Given the description of an element on the screen output the (x, y) to click on. 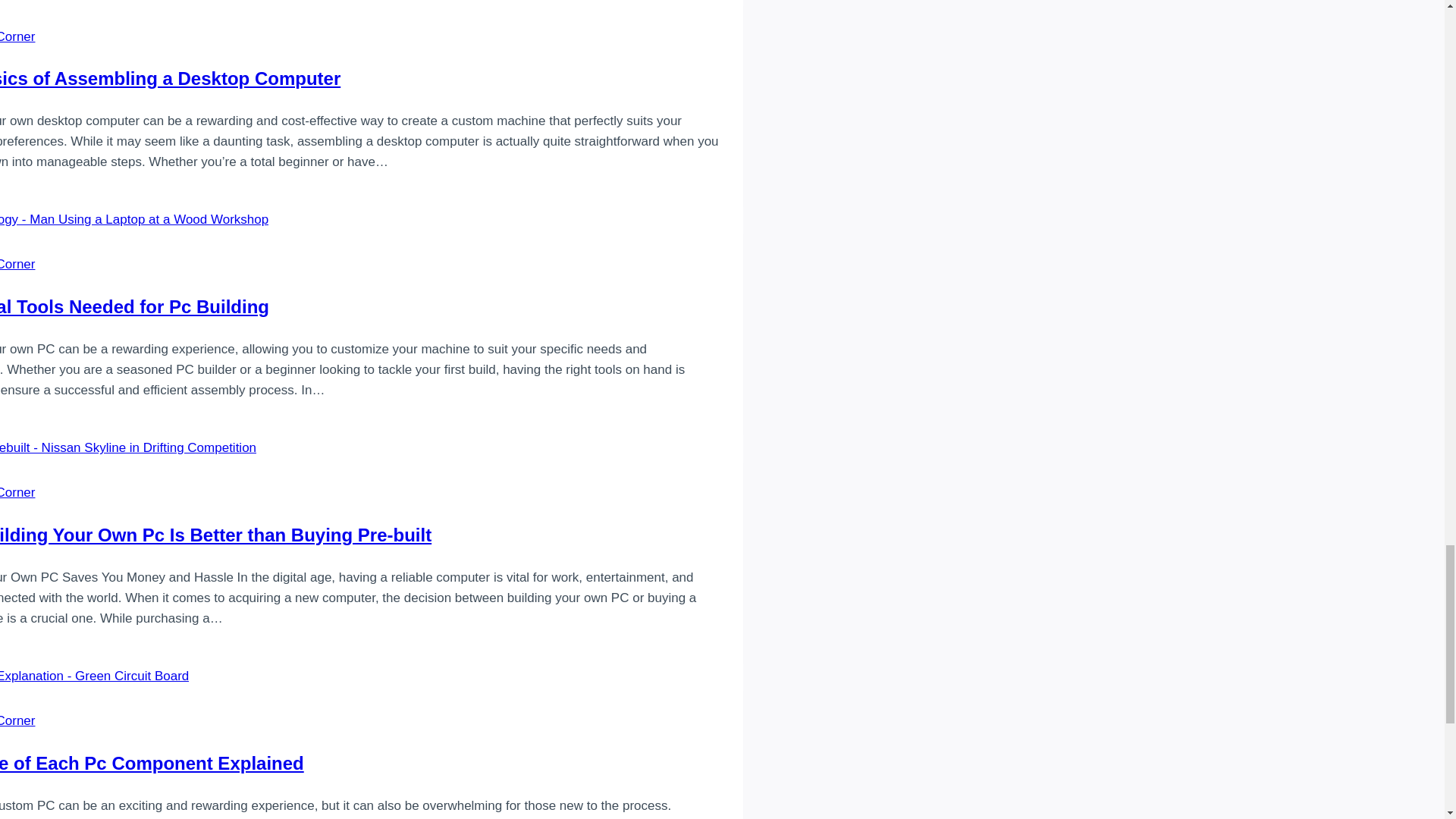
The Basics of Assembling a Desktop Computer (170, 77)
Beginner's Corner (17, 264)
Why Building Your Own Pc Is Better than Buying Pre-built (215, 534)
Essential Tools Needed for Pc Building (134, 306)
Beginner's Corner (17, 492)
The Role of Each Pc Component Explained (152, 762)
Beginner's Corner (17, 720)
Beginner's Corner (17, 35)
